Given the description of an element on the screen output the (x, y) to click on. 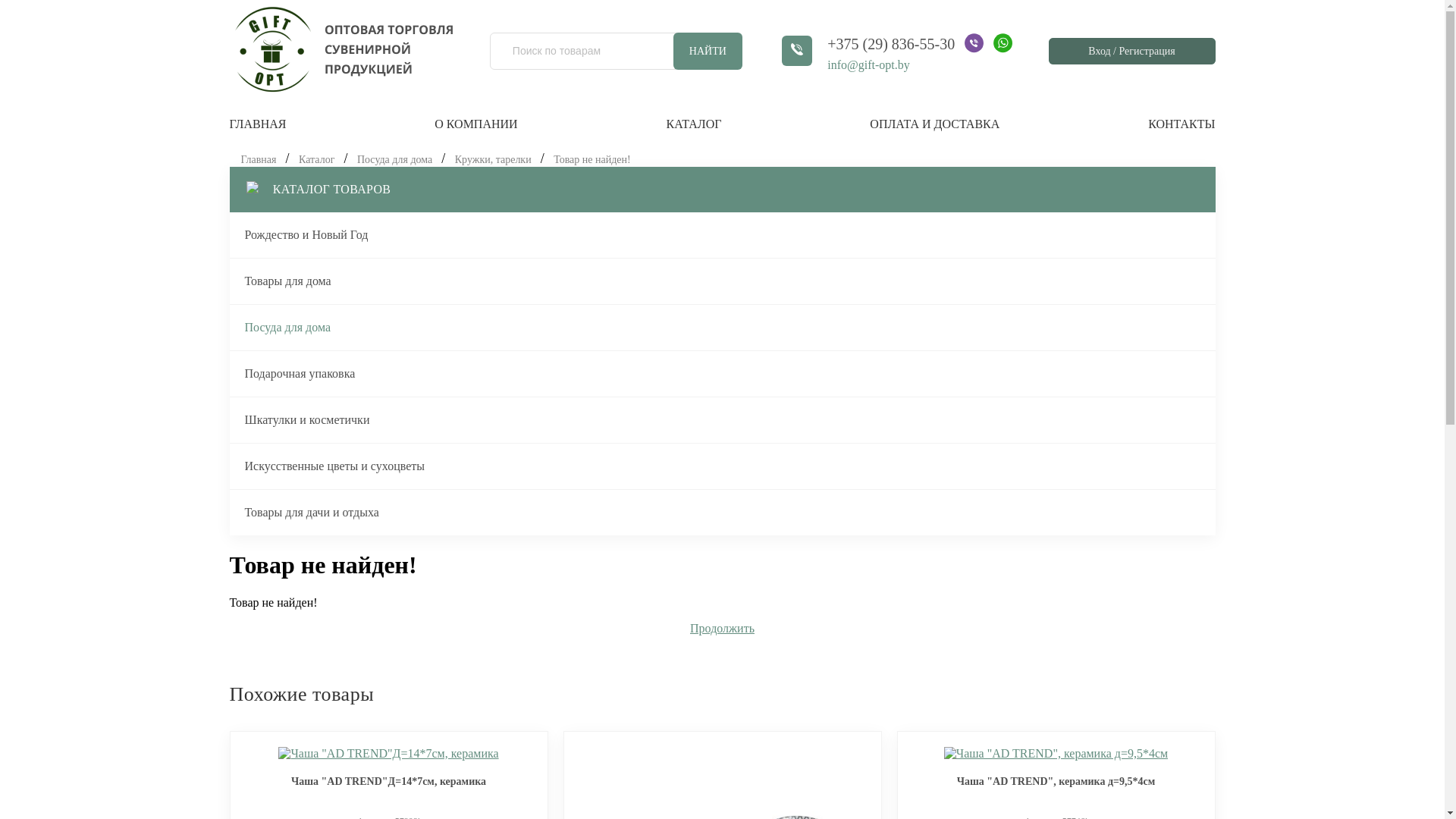
gift-opt.by Element type: hover (341, 48)
info@gift-opt.by Element type: text (919, 74)
+375 (29) 836-55-30 Element type: text (890, 44)
